Given the description of an element on the screen output the (x, y) to click on. 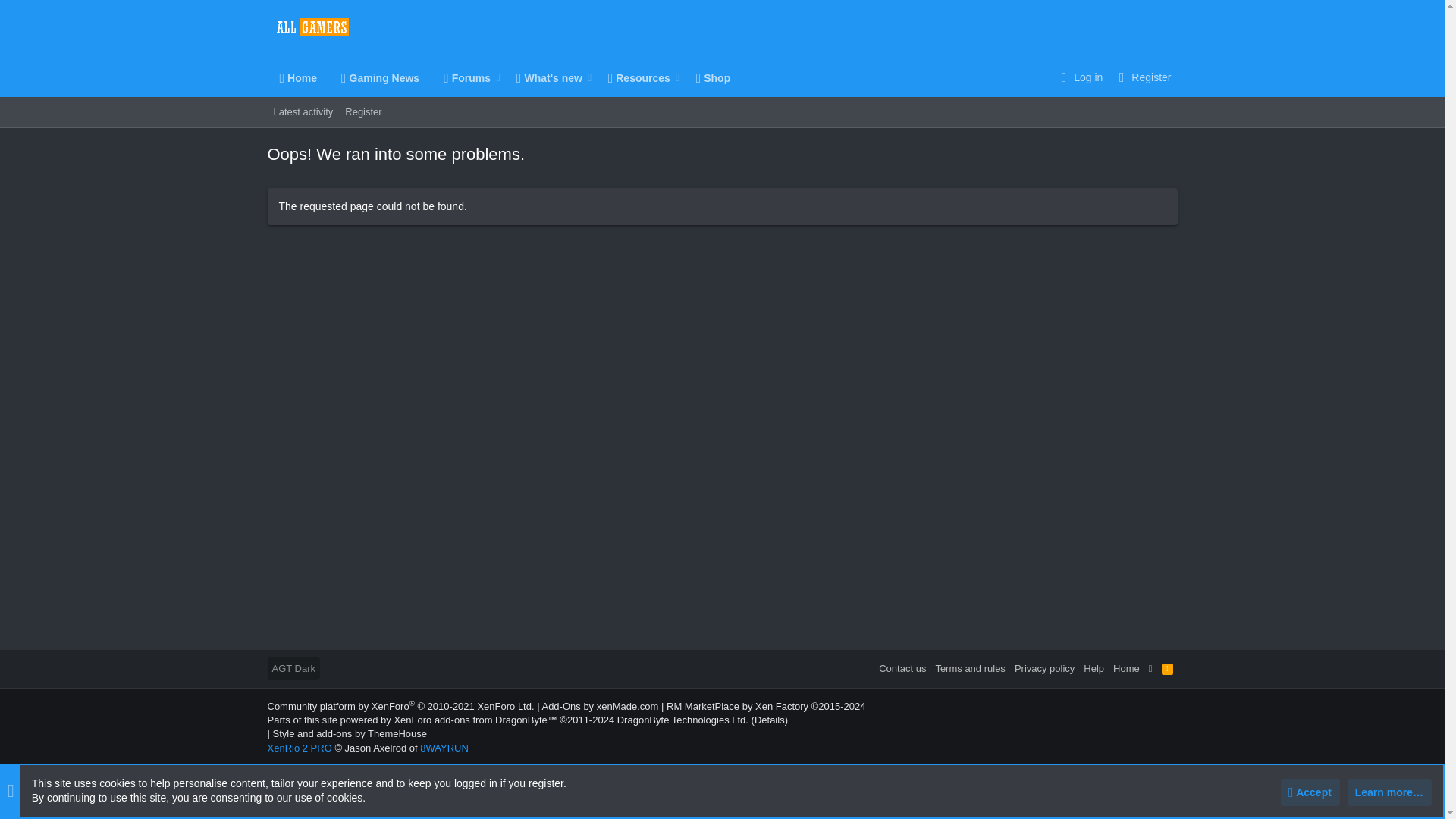
Contact us (504, 77)
Register (504, 94)
Resources (902, 668)
AGT Dark (1142, 77)
RSS (633, 77)
RSS (293, 668)
What's new (1167, 668)
Help (1167, 668)
Add-Ons (543, 77)
Forums (326, 129)
Terms and rules (1093, 668)
Privacy policy (560, 706)
